Given the description of an element on the screen output the (x, y) to click on. 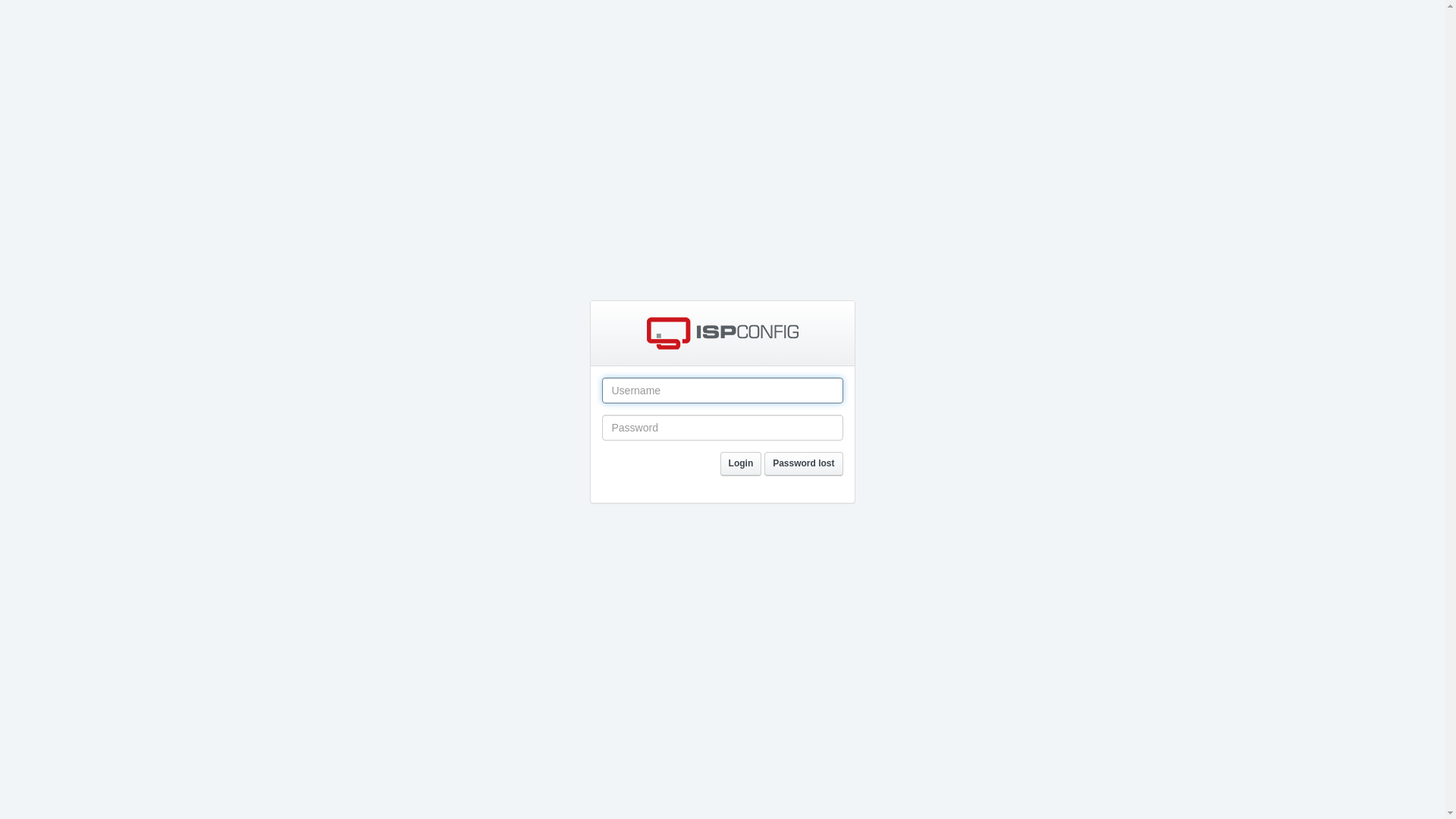
Password lost Element type: text (803, 463)
Login Element type: text (741, 463)
